Given the description of an element on the screen output the (x, y) to click on. 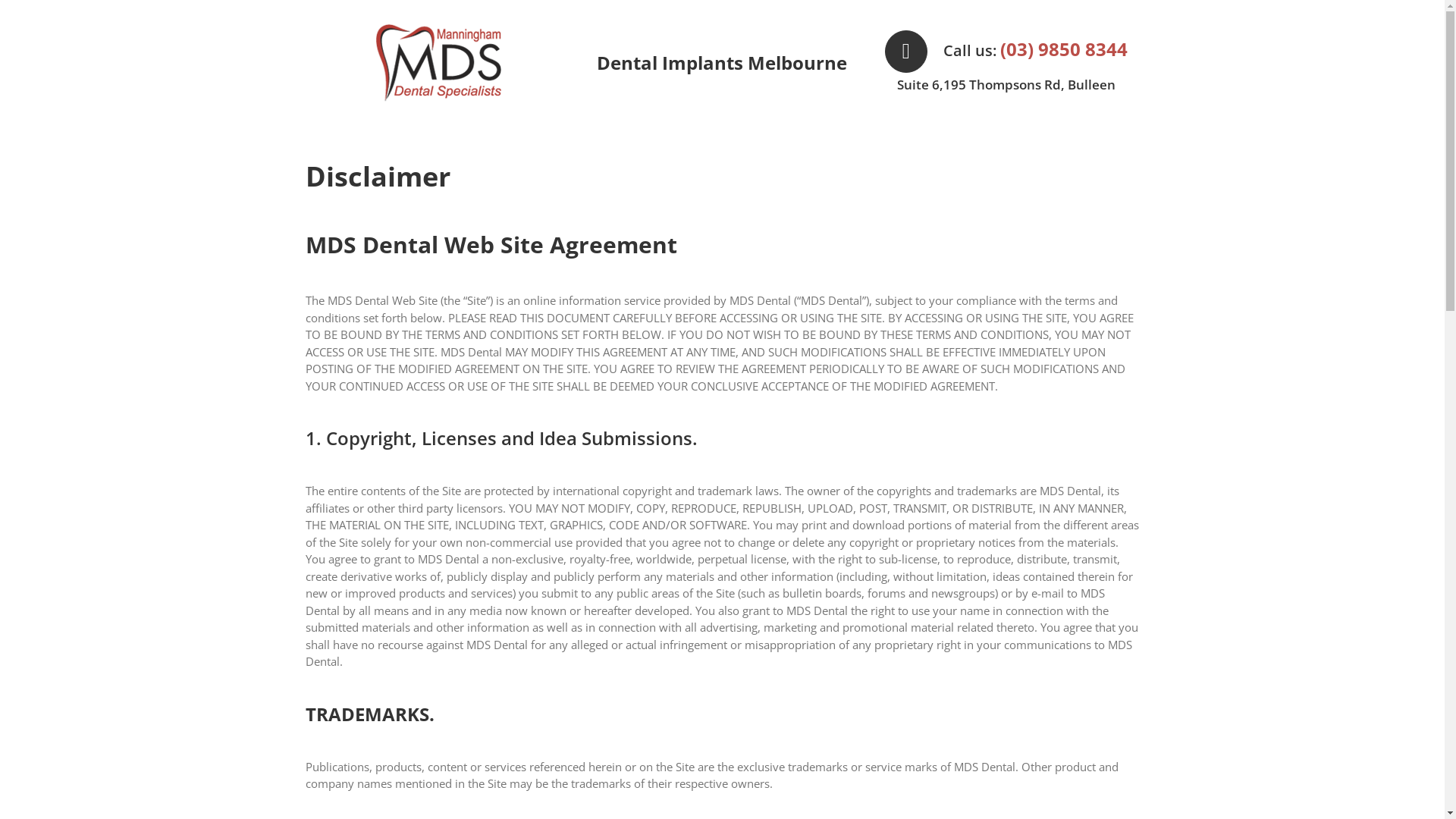
MDS-Logo Element type: hover (438, 62)
(03) 9850 8344 Element type: text (1063, 48)
